Given the description of an element on the screen output the (x, y) to click on. 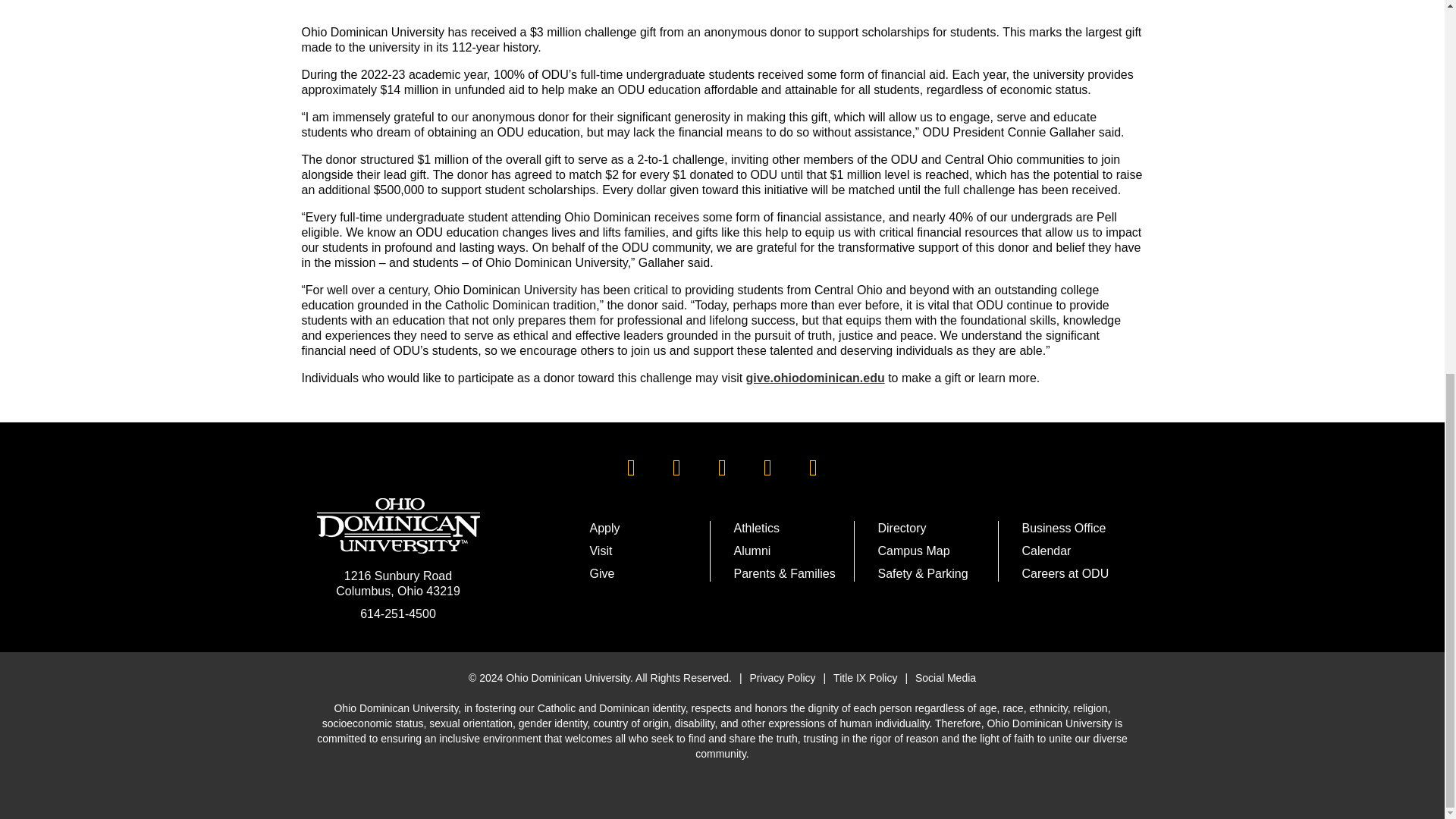
ODU Homepage (398, 525)
